Given the description of an element on the screen output the (x, y) to click on. 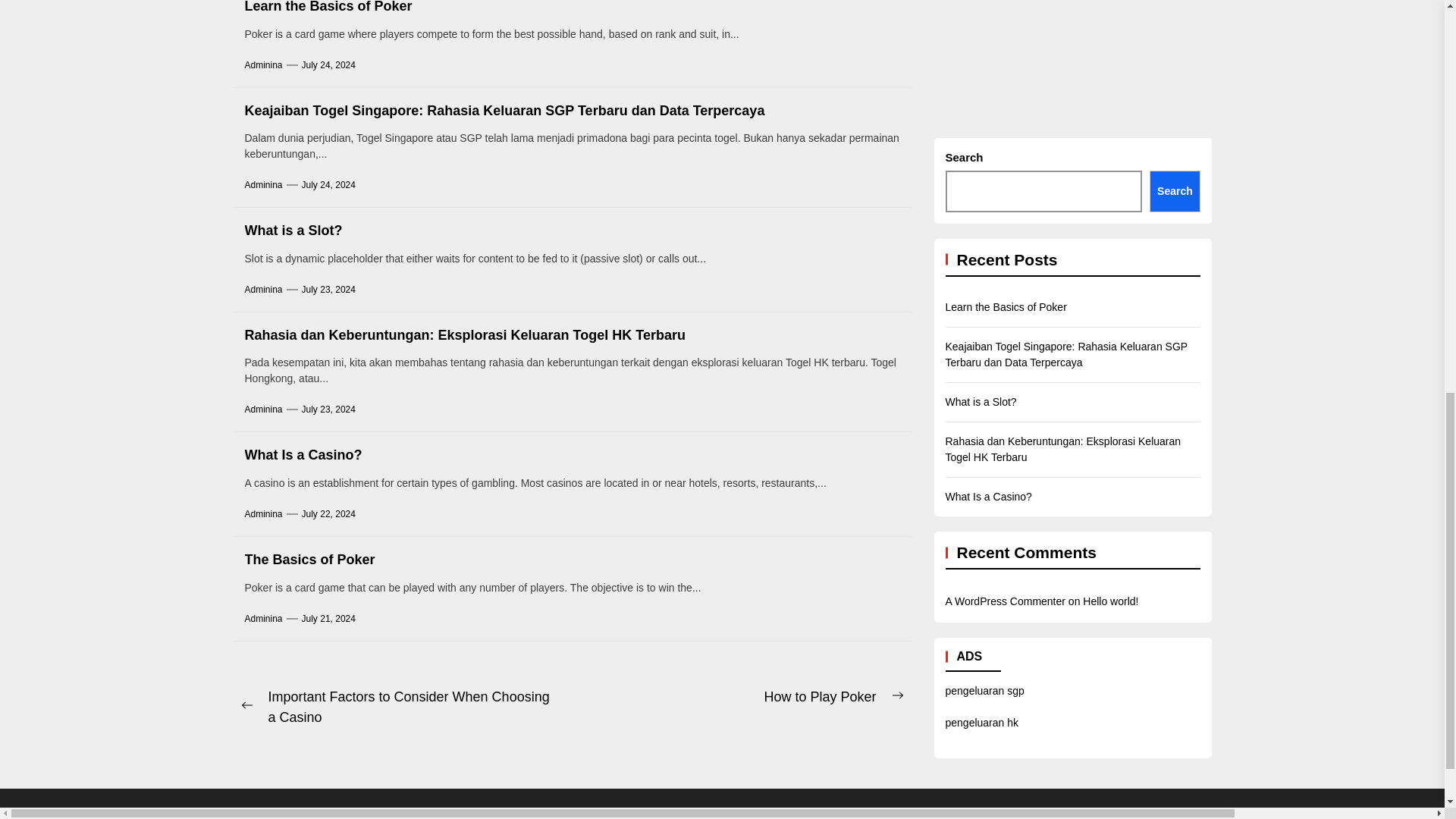
January 2023 (1416, 1)
June 2022 (1408, 270)
December 2022 (1420, 34)
November 2022 (1420, 73)
May 2022 (1406, 310)
July 2022 (1406, 231)
September 2022 (1420, 152)
August 2022 (1414, 191)
October 2022 (1416, 113)
